Given the description of an element on the screen output the (x, y) to click on. 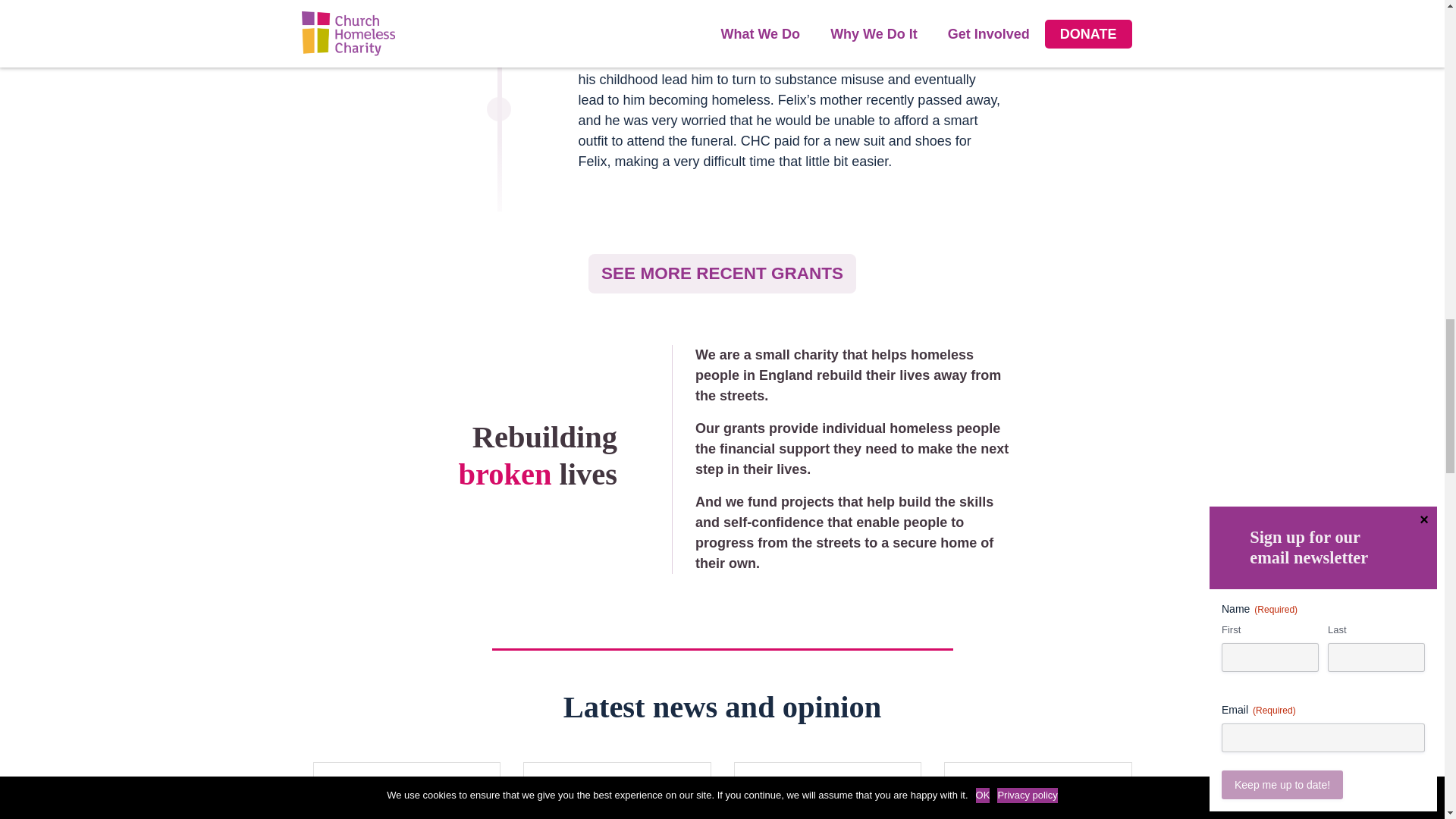
SEE MORE RECENT GRANTS (722, 273)
